Given the description of an element on the screen output the (x, y) to click on. 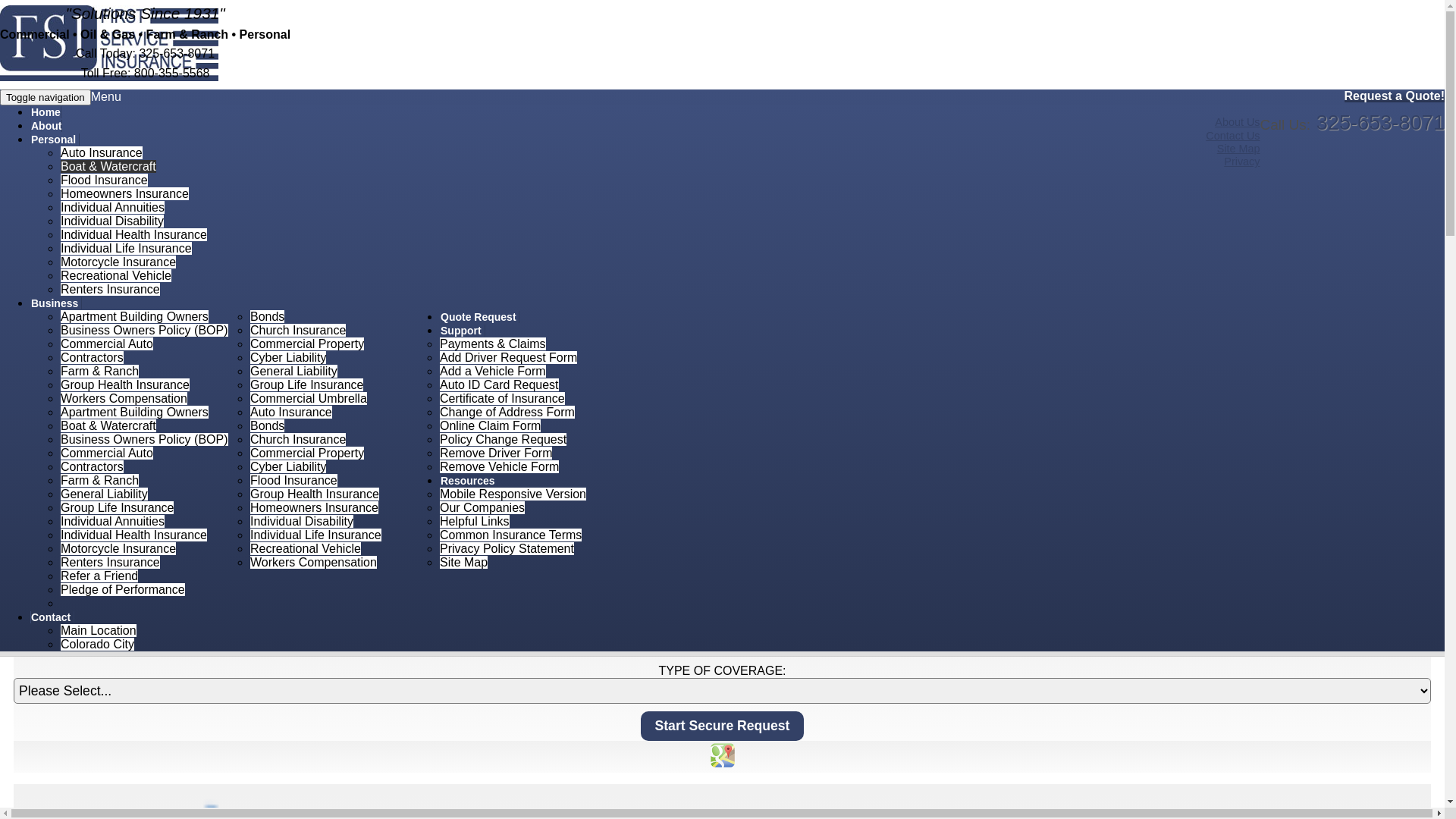
325-653-8071 Element type: text (1380, 122)
Pledge of Performance Element type: text (122, 589)
Motorcycle Insurance Element type: text (117, 548)
Individual Life Insurance Element type: text (315, 534)
Common Insurance Terms Element type: text (510, 534)
Menu Element type: text (106, 96)
Individual Annuities Element type: text (112, 520)
Flood Insurance Element type: text (293, 479)
Cyber Liability Element type: text (288, 466)
Individual Life Insurance Element type: text (125, 247)
Boat & Watercraft Element type: text (108, 425)
Individual Disability Element type: text (301, 520)
Boat Insurance Quote Request Element type: text (119, 271)
Resources Element type: text (468, 480)
Boat & Watercraft Element type: text (108, 166)
Commercial Property Element type: text (307, 343)
Payments & Claims Element type: text (492, 343)
Church Insurance Element type: text (297, 329)
General Liability Element type: text (103, 493)
Privacy Policy Statement Element type: text (506, 548)
Recreational Vehicle Element type: text (115, 275)
Contact Us Element type: text (1232, 135)
Auto ID Card Request Element type: text (498, 384)
Apartment Building Owners Element type: text (134, 316)
Workers Compensation Element type: text (313, 561)
Mobile Responsive Version Element type: text (512, 493)
Bonds Element type: text (267, 316)
Colorado City Element type: text (97, 643)
Flood Insurance Element type: text (103, 179)
Start Secure Request Element type: text (722, 725)
Cyber Liability Element type: text (288, 357)
Group Life Insurance Element type: text (116, 507)
Certificate of Insurance Element type: text (501, 398)
Renters Insurance Element type: text (110, 561)
Site Map Element type: text (463, 561)
Refer a Friend Element type: text (99, 575)
Workers Compensation Element type: text (123, 398)
Request a Quote! Element type: text (1394, 95)
Motorcycle Insurance Element type: text (117, 261)
Support Element type: text (462, 330)
Remove Vehicle Form Element type: text (498, 466)
Main Location Element type: text (98, 630)
Contractors Element type: text (91, 466)
Business Owners Policy (BOP) Element type: text (144, 439)
Contractors Element type: text (91, 357)
Homeowners Insurance Element type: text (314, 507)
Church Insurance Element type: text (297, 439)
Recreational Vehicle Element type: text (305, 548)
Group Health Insurance Element type: text (124, 384)
Policy Change Request Element type: text (502, 439)
Individual Disability Element type: text (111, 220)
About Element type: text (46, 125)
Commercial Umbrella Element type: text (308, 398)
Group Health Insurance Element type: text (314, 493)
Commercial Property Element type: text (307, 452)
About Us Element type: text (1236, 122)
Group Life Insurance Element type: text (306, 384)
Business Owners Policy (BOP) Element type: text (144, 329)
Farm & Ranch Element type: text (99, 370)
Individual Health Insurance Element type: text (133, 534)
Individual Annuities Element type: text (112, 206)
Commercial Auto Element type: text (106, 343)
Toggle navigation Element type: text (45, 97)
Add a Vehicle Form Element type: text (492, 370)
Add Driver Request Form Element type: text (508, 357)
Remove Driver Form Element type: text (495, 452)
Site Map Element type: text (1238, 148)
Business Element type: text (55, 303)
Individual Health Insurance Element type: text (133, 234)
Homeowners Insurance Element type: text (124, 193)
Apartment Building Owners Element type: text (134, 411)
General Liability Element type: text (293, 370)
Renters Insurance Element type: text (110, 288)
Quote Request Element type: text (479, 316)
Change of Address Form Element type: text (506, 411)
Auto Insurance Element type: text (291, 411)
Our Companies Element type: text (481, 507)
Auto Insurance Element type: text (101, 152)
Online Claim Form Element type: text (489, 425)
Contact Element type: text (52, 617)
Personal Element type: text (67, 189)
Helpful Links Element type: text (474, 520)
Farm & Ranch Element type: text (99, 479)
Commercial Auto Element type: text (106, 452)
Privacy Element type: text (1241, 161)
Personal Element type: text (54, 139)
Bonds Element type: text (267, 425)
Home Element type: text (45, 112)
